Given the description of an element on the screen output the (x, y) to click on. 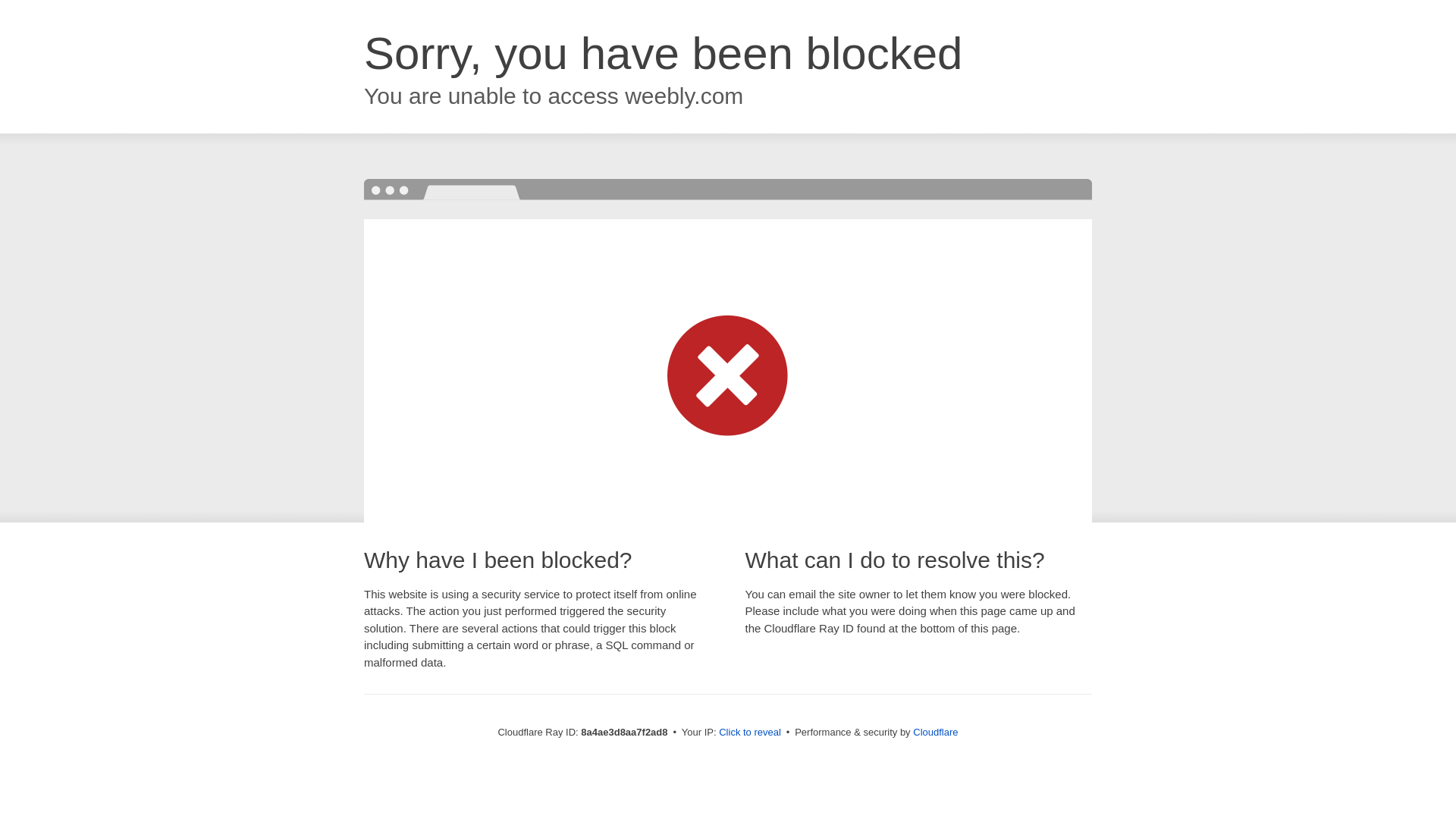
Cloudflare (935, 731)
Click to reveal (749, 732)
